Given the description of an element on the screen output the (x, y) to click on. 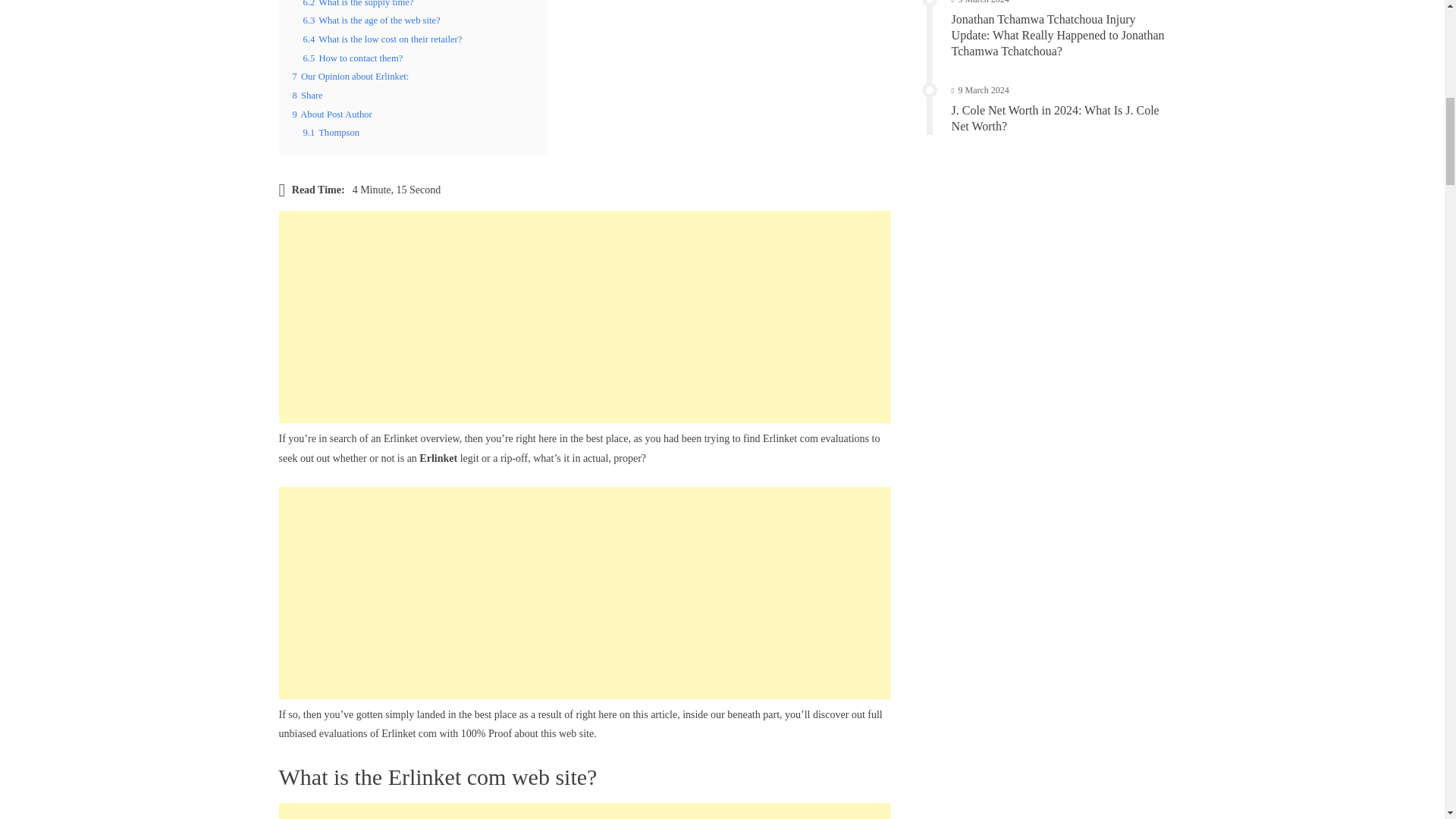
6.3 What is the age of the web site? (371, 20)
6.5 How to contact them? (352, 58)
8 Share (307, 95)
Advertisement (585, 316)
Advertisement (585, 592)
6.2 What is the supply time? (357, 3)
Advertisement (585, 811)
9 About Post Author (332, 113)
6.4 What is the low cost on their retailer? (382, 39)
7 Our Opinion about Erlinket: (350, 76)
